Given the description of an element on the screen output the (x, y) to click on. 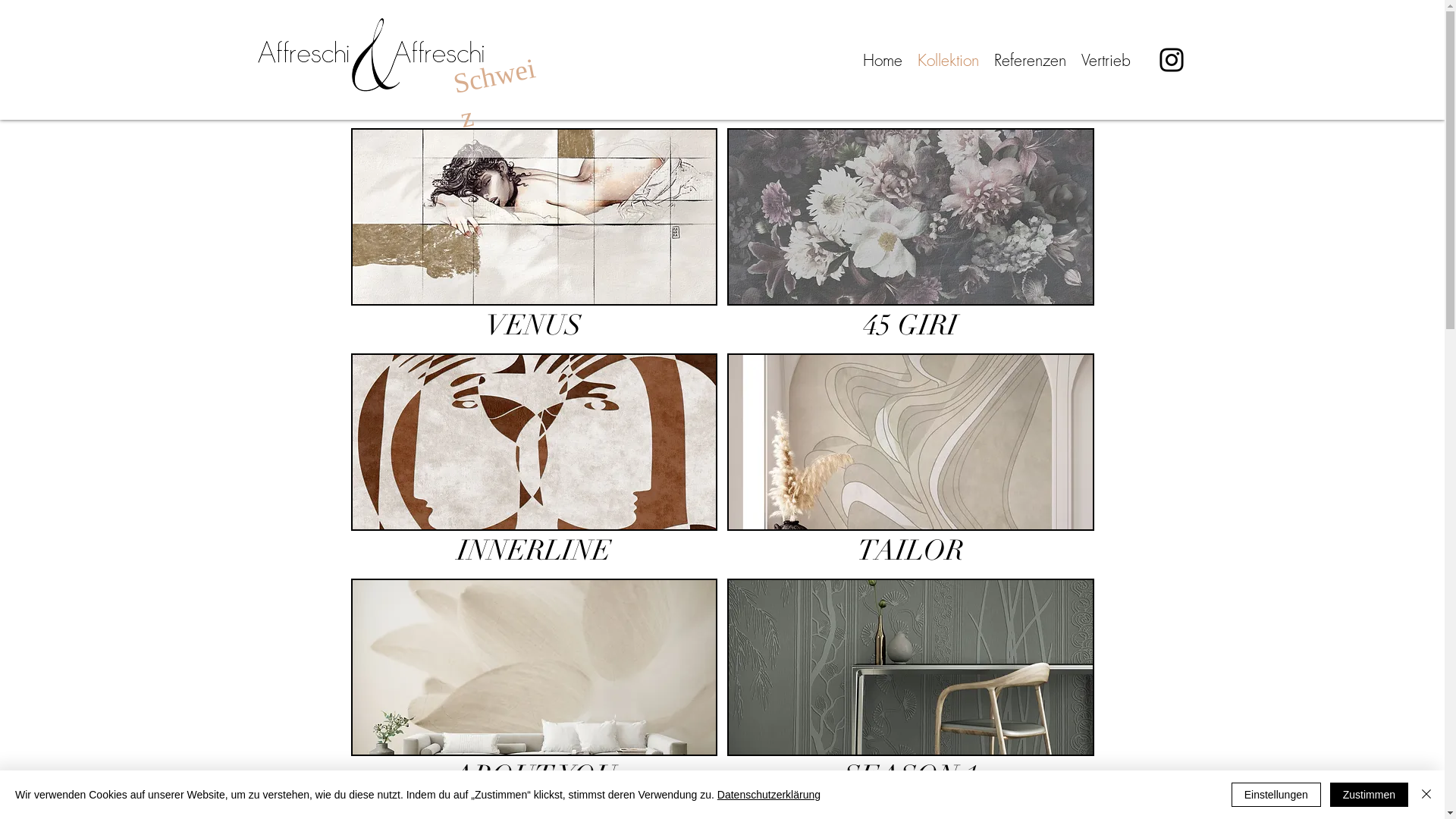
Zustimmen Element type: text (1369, 794)
Kollektion Element type: text (948, 60)
Referenzen Element type: text (1029, 60)
SEASON 1 Element type: text (910, 685)
INNERLINE Element type: text (533, 460)
TAILOR Element type: text (910, 460)
45 GIRI Element type: text (910, 235)
Einstellungen Element type: text (1276, 794)
ABOUT YOU Element type: text (533, 685)
Schweiz Element type: text (491, 85)
Vertrieb Element type: text (1105, 60)
VENUS Element type: text (533, 235)
Home Element type: text (882, 60)
